Given the description of an element on the screen output the (x, y) to click on. 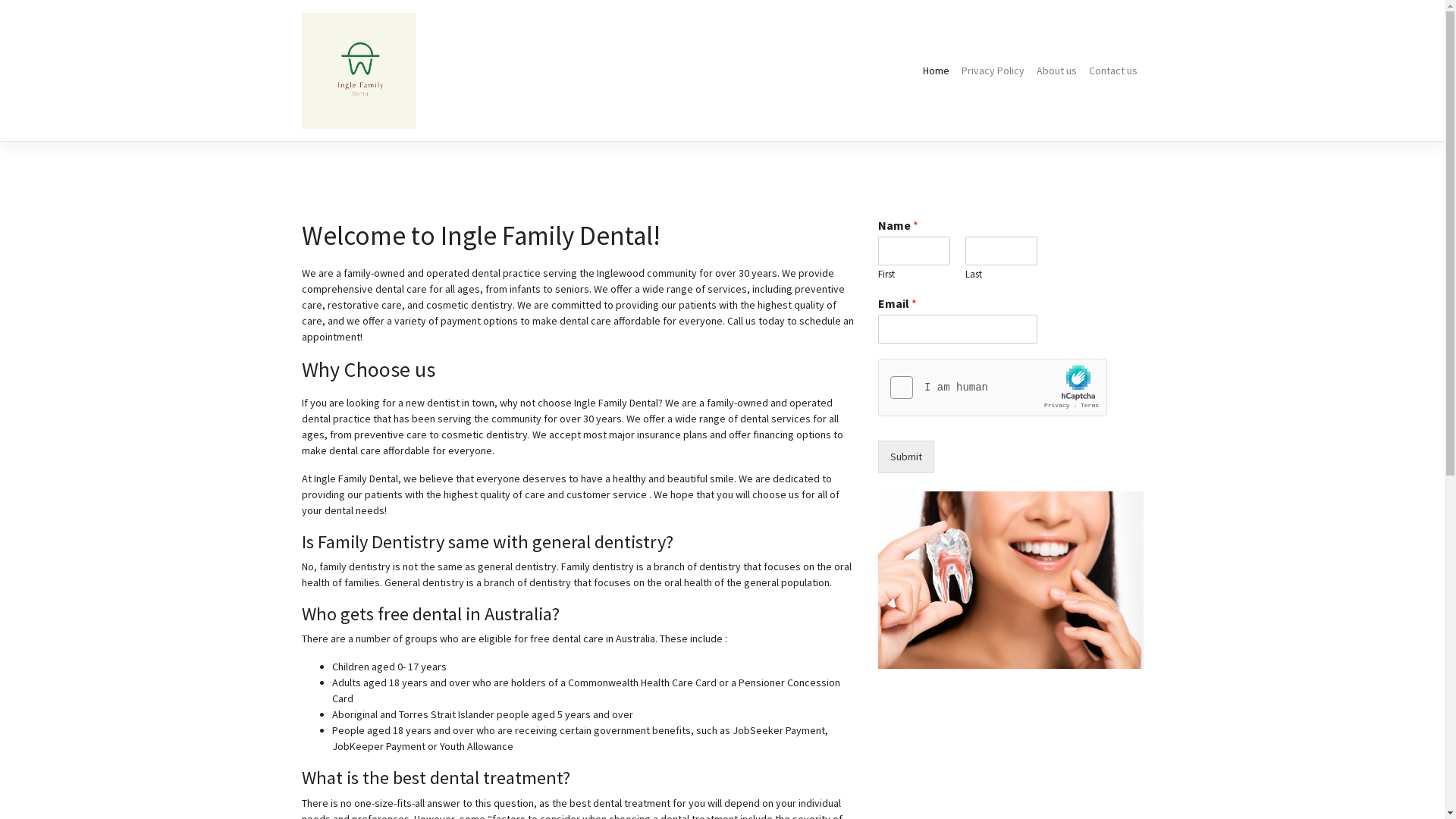
Contact us Element type: text (1112, 70)
Privacy Policy Element type: text (992, 70)
Widget containing checkbox for hCaptcha security challenge Element type: hover (992, 387)
Home Element type: text (935, 70)
Submit Element type: text (906, 456)
About us Element type: text (1055, 70)
